Given the description of an element on the screen output the (x, y) to click on. 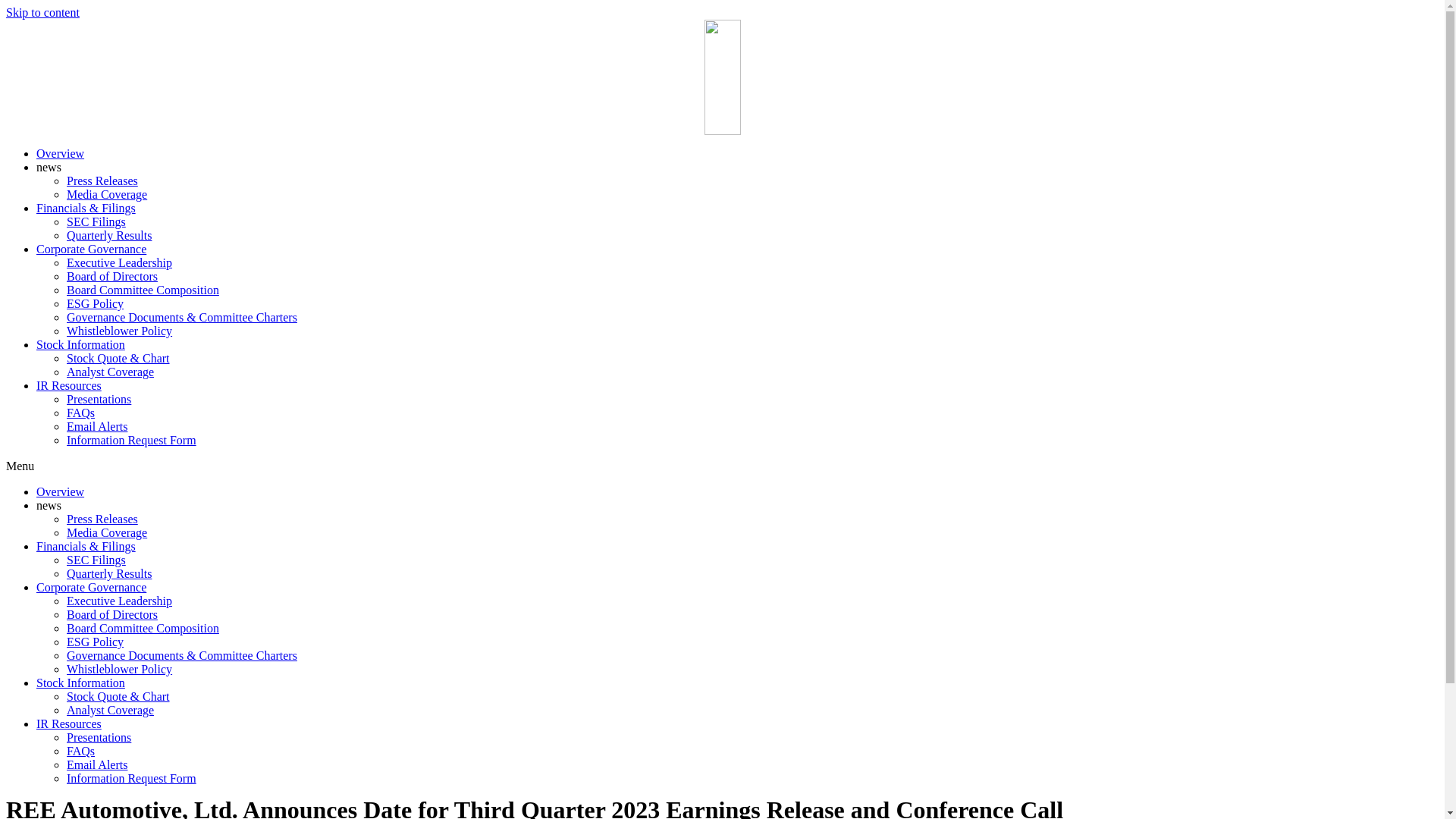
Corporate Governance Element type: text (91, 586)
Board Committee Composition Element type: text (142, 627)
Email Alerts Element type: text (96, 764)
Analyst Coverage Element type: text (109, 371)
Stock Information Element type: text (80, 344)
Information Request Form Element type: text (131, 439)
Press Releases Element type: text (102, 518)
Media Coverage Element type: text (106, 532)
Financials & Filings Element type: text (85, 545)
Board of Directors Element type: text (111, 614)
ESG Policy Element type: text (94, 641)
FAQs Element type: text (80, 412)
Quarterly Results Element type: text (108, 573)
Financials & Filings Element type: text (85, 207)
Email Alerts Element type: text (96, 426)
news Element type: text (48, 504)
Board of Directors Element type: text (111, 275)
Stock Information Element type: text (80, 682)
Quarterly Results Element type: text (108, 235)
Whistleblower Policy Element type: text (119, 668)
Information Request Form Element type: text (131, 777)
Executive Leadership Element type: text (119, 600)
ESG Policy Element type: text (94, 303)
SEC Filings Element type: text (95, 221)
Skip to content Element type: text (42, 12)
Analyst Coverage Element type: text (109, 709)
Governance Documents & Committee Charters Element type: text (181, 316)
Overview Element type: text (60, 153)
FAQs Element type: text (80, 750)
Stock Quote & Chart Element type: text (117, 357)
Press Releases Element type: text (102, 180)
SEC Filings Element type: text (95, 559)
IR Resources Element type: text (68, 385)
Media Coverage Element type: text (106, 194)
news Element type: text (48, 166)
Executive Leadership Element type: text (119, 262)
Whistleblower Policy Element type: text (119, 330)
Presentations Element type: text (98, 737)
Presentations Element type: text (98, 398)
Stock Quote & Chart Element type: text (117, 696)
Overview Element type: text (60, 491)
Corporate Governance Element type: text (91, 248)
IR Resources Element type: text (68, 723)
Board Committee Composition Element type: text (142, 289)
Governance Documents & Committee Charters Element type: text (181, 655)
